Given the description of an element on the screen output the (x, y) to click on. 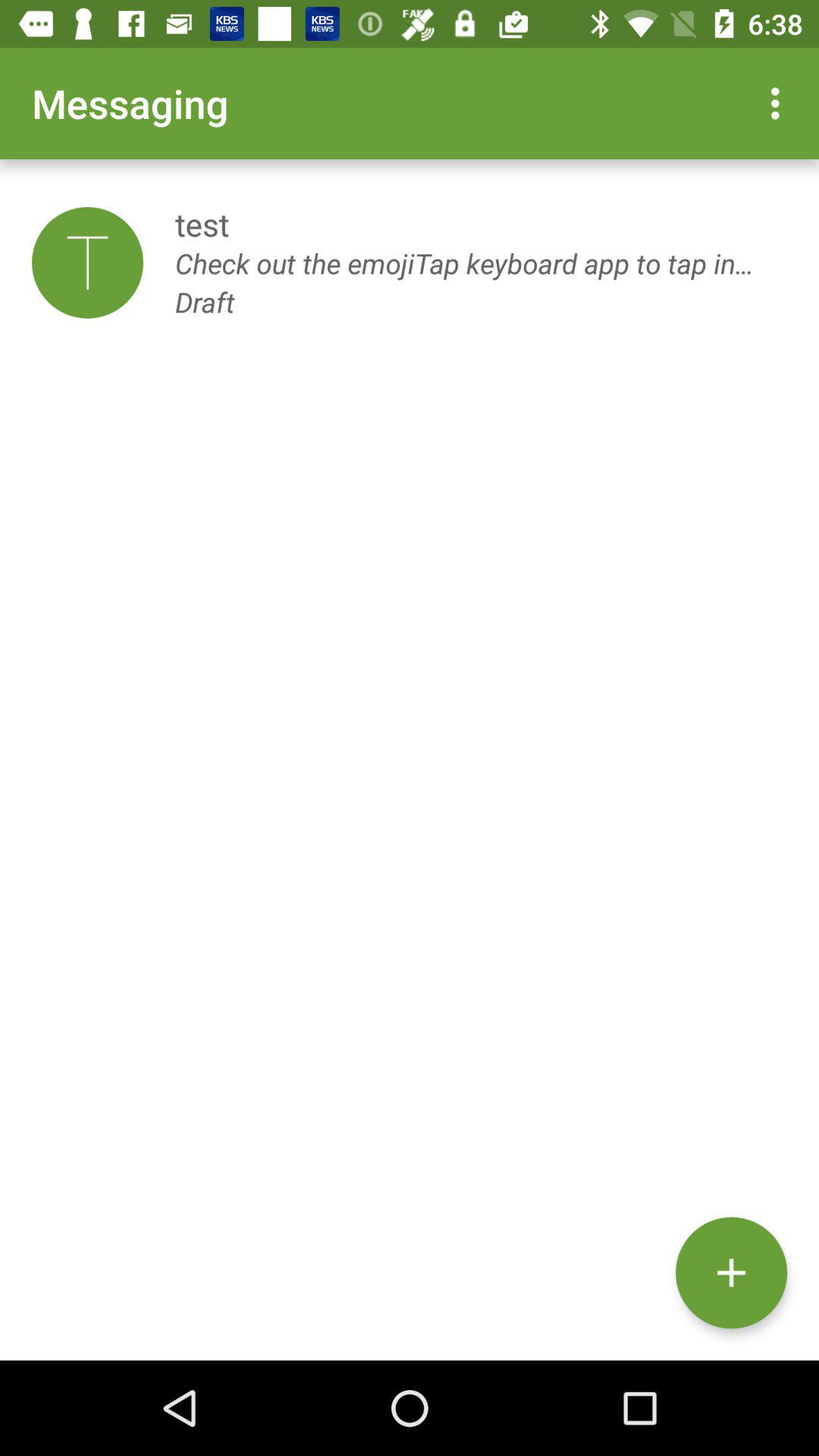
launch the icon to the left of test icon (87, 262)
